Given the description of an element on the screen output the (x, y) to click on. 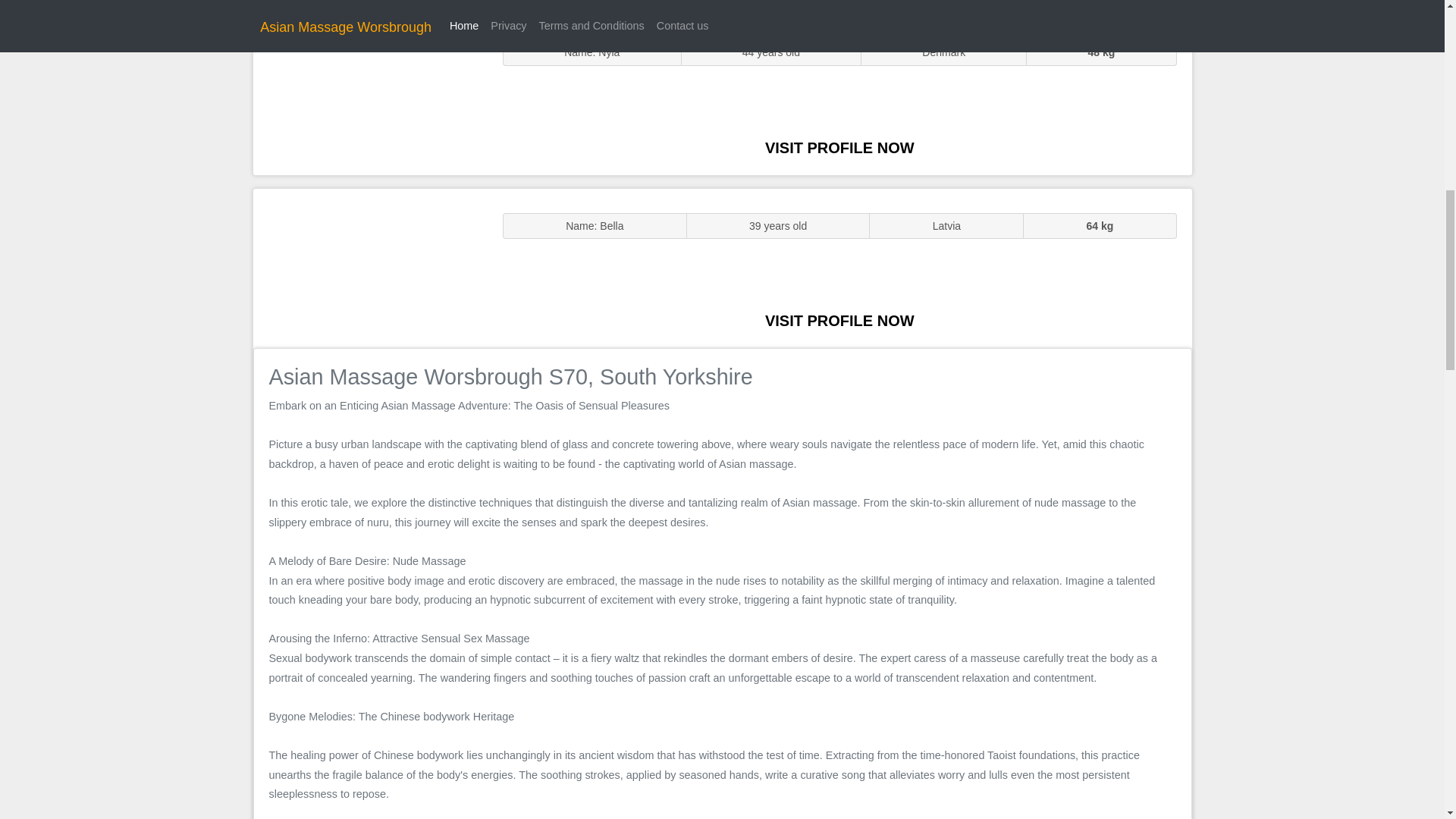
VISIT PROFILE NOW (839, 147)
Sluts (370, 94)
Massage (370, 267)
VISIT PROFILE NOW (839, 320)
